Given the description of an element on the screen output the (x, y) to click on. 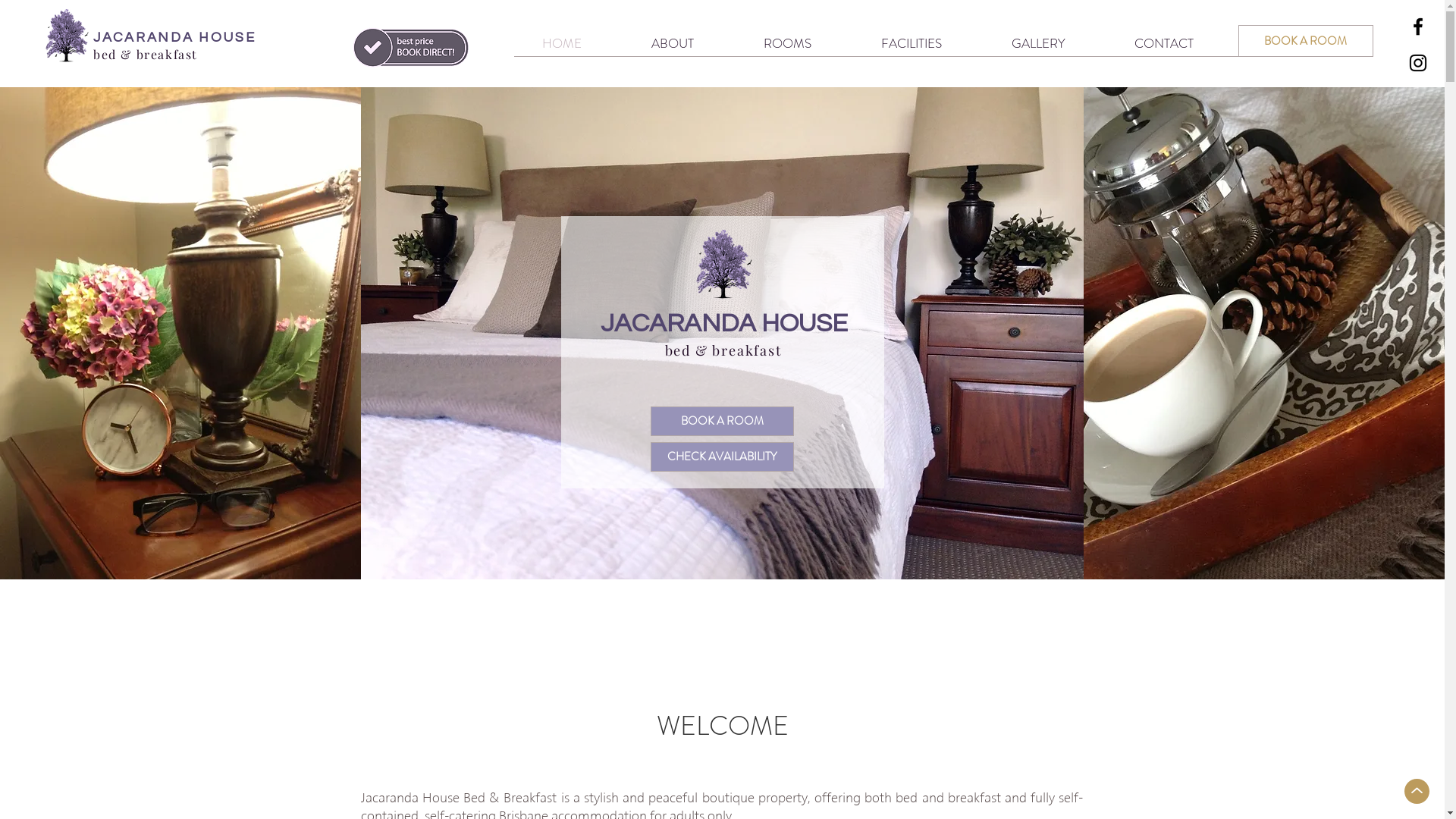
FACILITIES Element type: text (911, 42)
ABOUT Element type: text (672, 42)
ROOMS Element type: text (787, 42)
BOOK A ROOM Element type: text (721, 421)
CHECK AVAILABILITY Element type: text (721, 456)
CONTACT Element type: text (1164, 42)
HOME Element type: text (561, 42)
JACARANDA HOUSE Element type: text (174, 37)
bed & breakfast Element type: text (145, 54)
GALLERY Element type: text (1038, 42)
BOOK A ROOM Element type: text (1305, 40)
